Given the description of an element on the screen output the (x, y) to click on. 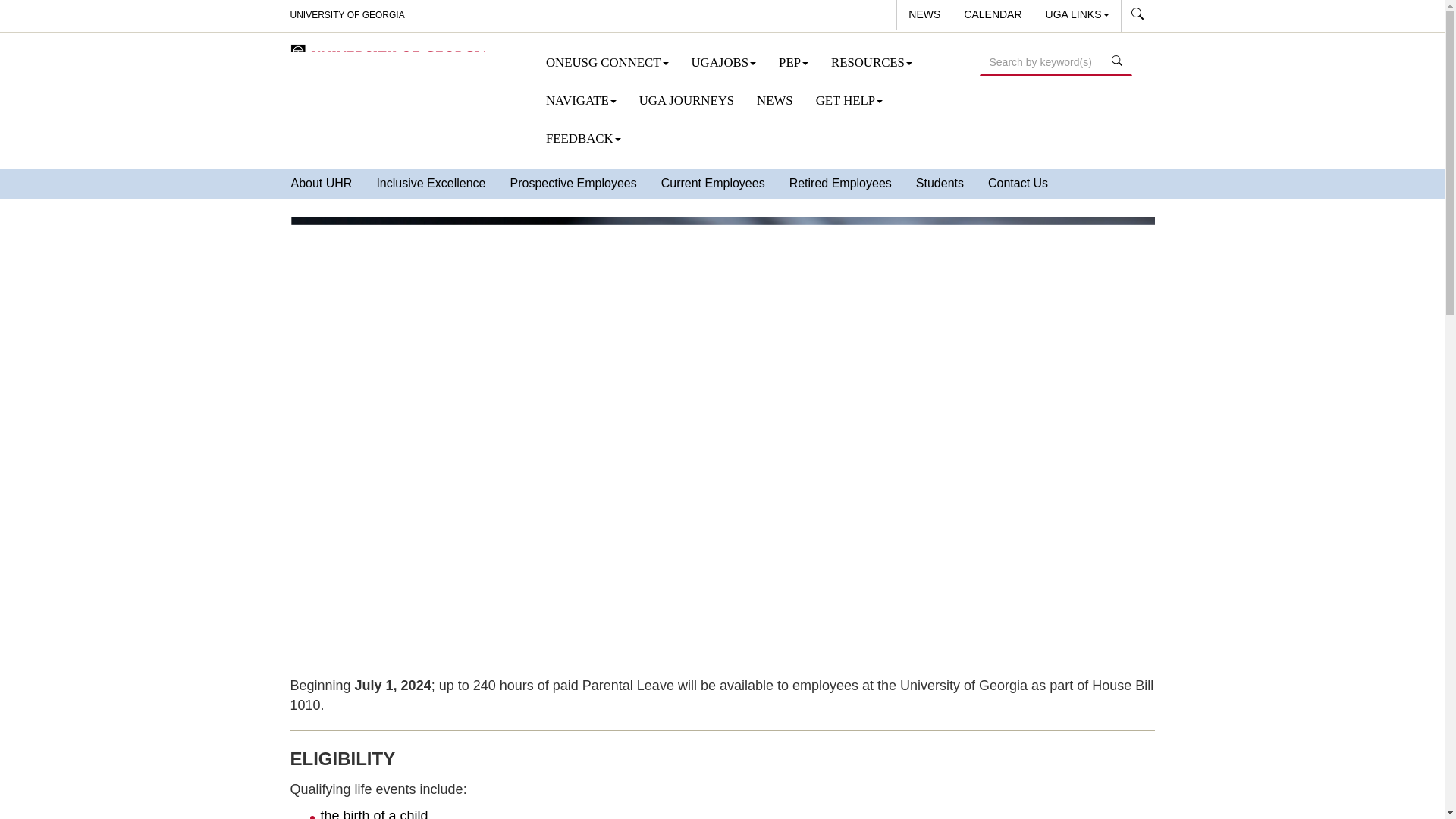
UGA LINKS (1077, 15)
PEP (793, 62)
RESOURCES (871, 62)
NEWS (924, 15)
ONEUSG CONNECT (606, 62)
CALENDAR (992, 15)
UGAJOBS (723, 62)
